Given the description of an element on the screen output the (x, y) to click on. 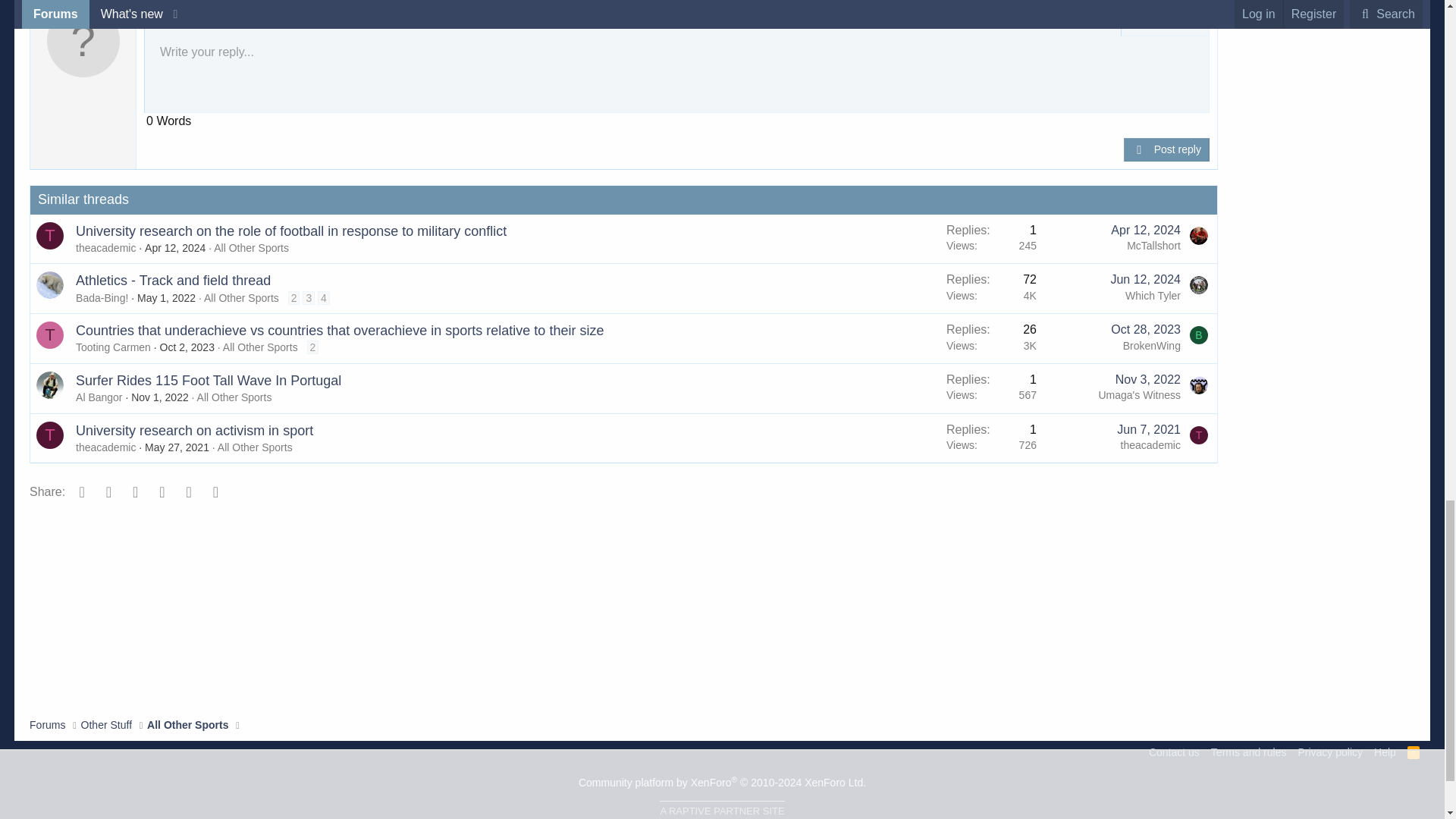
Bold (190, 21)
Remove formatting (165, 21)
Italic (214, 21)
Remove formatting (165, 21)
Font size (238, 21)
Font size (238, 21)
